Given the description of an element on the screen output the (x, y) to click on. 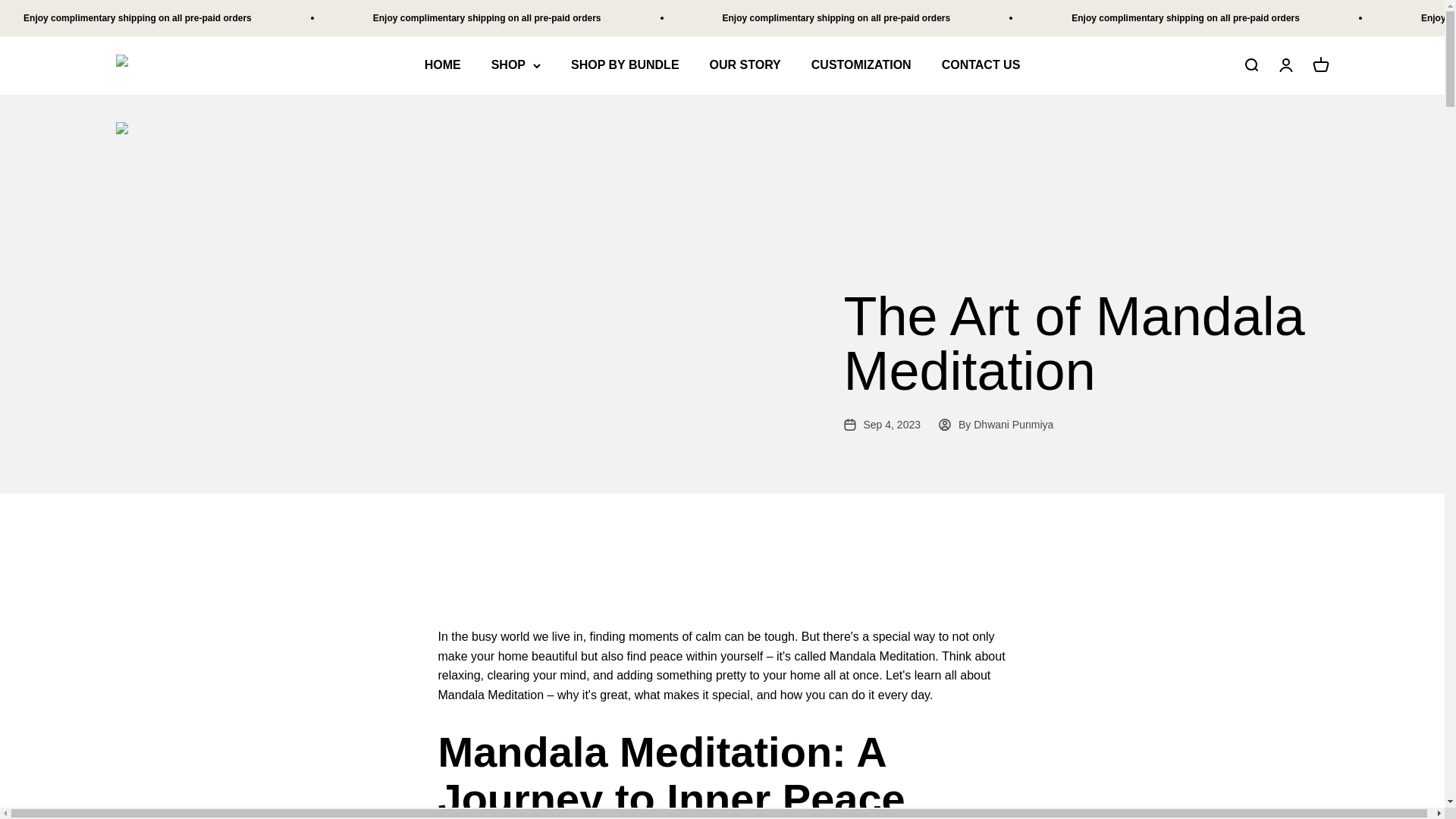
Open cart (1319, 65)
OUR STORY (745, 65)
SHOP BY BUNDLE (624, 65)
Open search (1250, 65)
CUSTOMIZATION (860, 65)
HOME (443, 65)
bambaiSe (152, 65)
CONTACT US (981, 65)
Open account page (1285, 65)
